Given the description of an element on the screen output the (x, y) to click on. 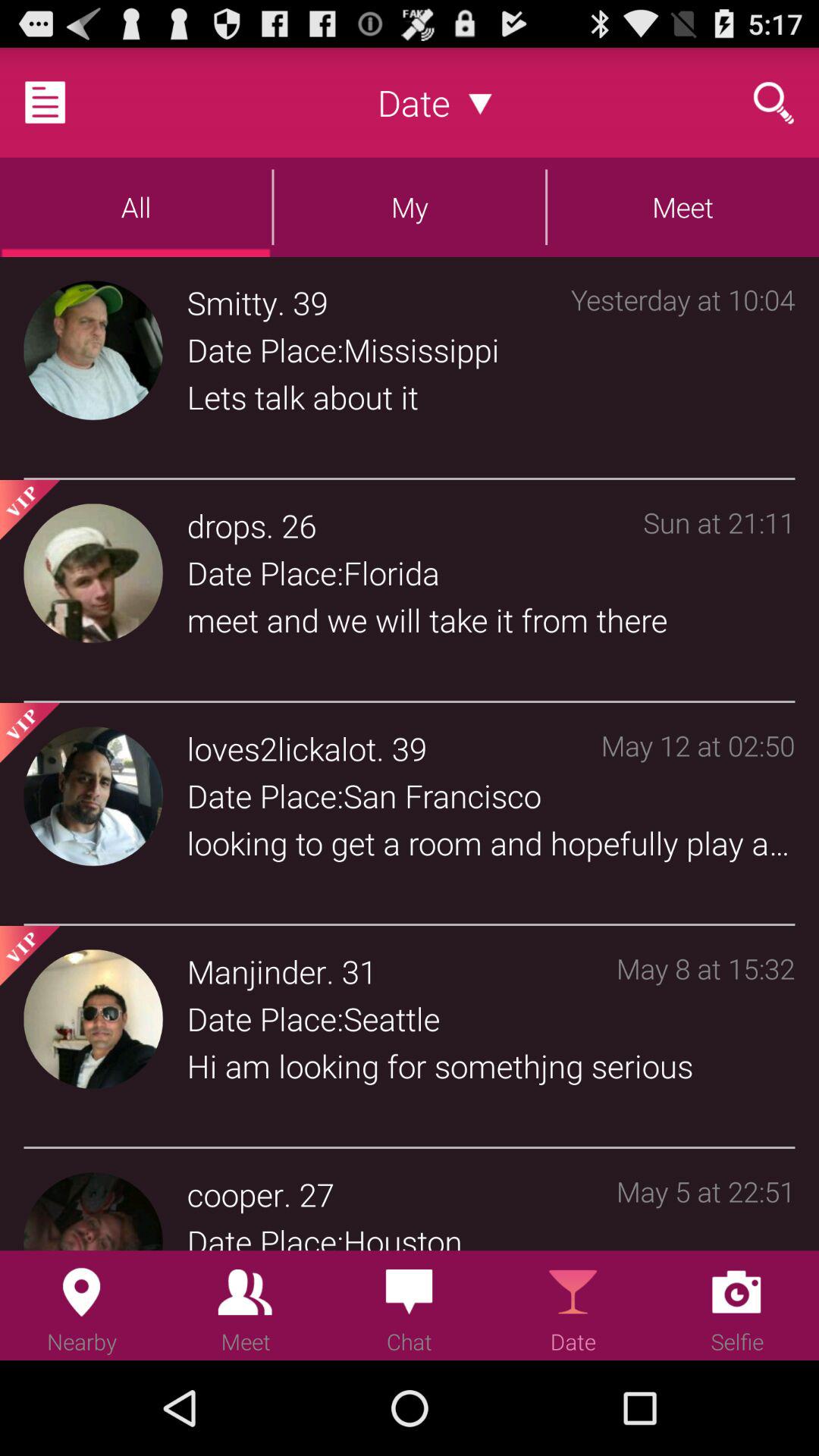
press app above the date place:seattle app (256, 971)
